Given the description of an element on the screen output the (x, y) to click on. 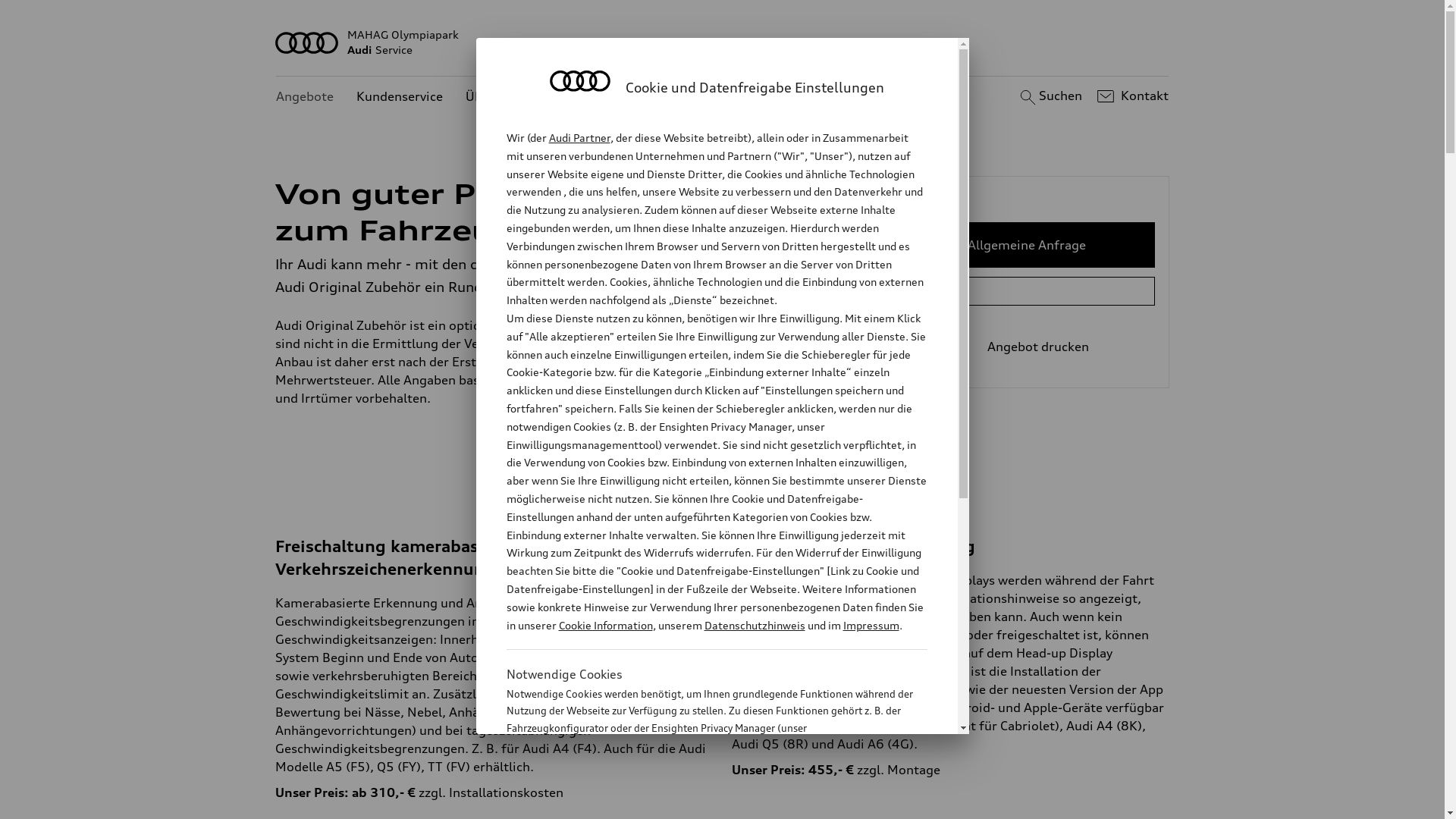
Allgemeine Anfrage Element type: text (1025, 244)
Kontakt Element type: text (1130, 96)
Audi Partner Element type: text (579, 137)
Kundenservice Element type: text (399, 96)
Suchen Element type: text (1049, 96)
MAHAG Olympiapark
AudiService Element type: text (722, 42)
Cookie Information Element type: text (605, 624)
Datenschutzhinweis Element type: text (753, 624)
Cookie Information Element type: text (700, 802)
Angebot drucken Element type: text (1026, 346)
Angebote Element type: text (304, 96)
Impressum Element type: text (871, 624)
